Given the description of an element on the screen output the (x, y) to click on. 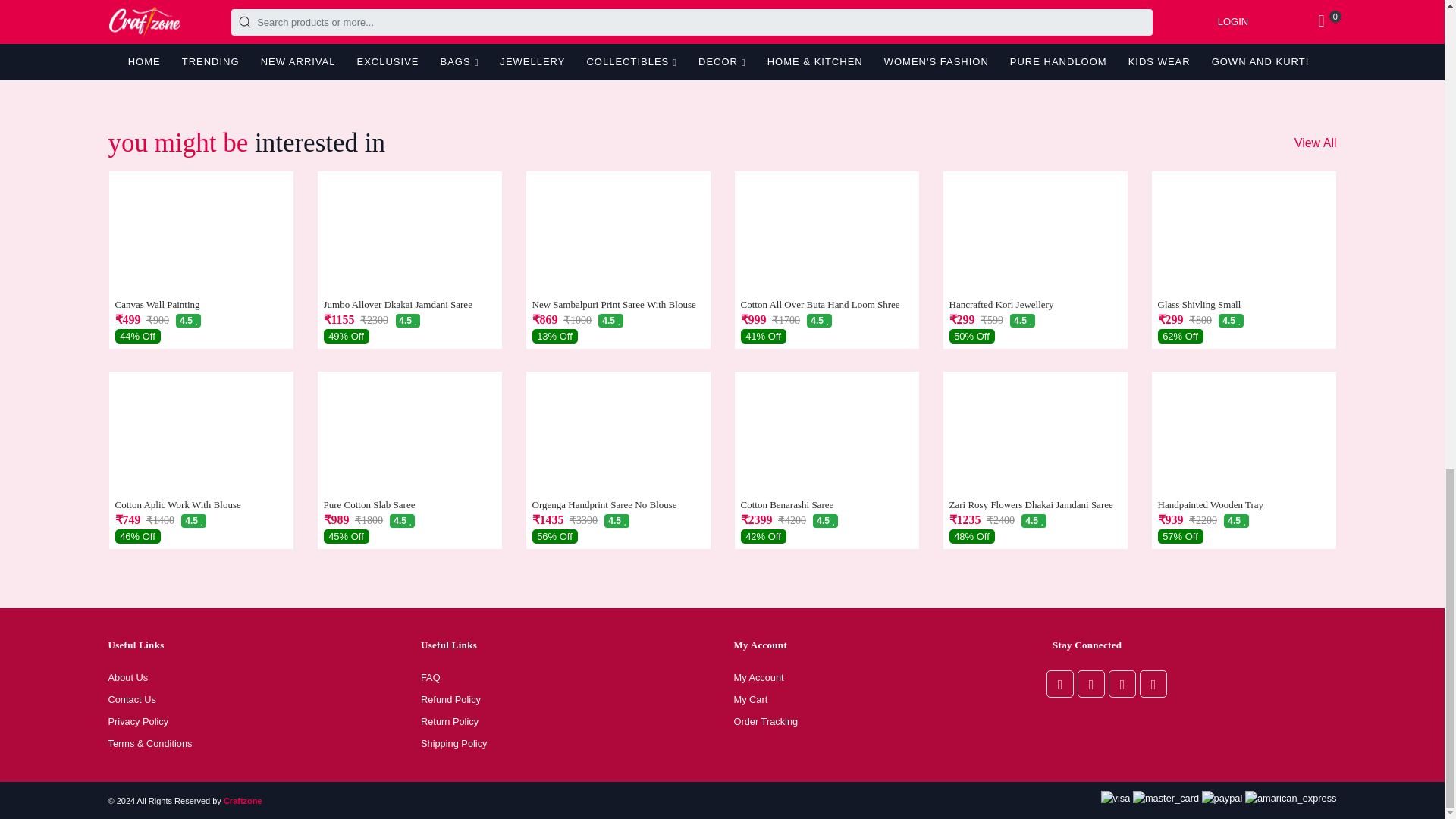
Cotton All Over Buta Hand Loom Shree (825, 304)
cotton aplic work with blouse (200, 504)
 Glass  Shivling small (1243, 304)
 Cotton Benarashi Saree (825, 504)
 Canvas Wall Painting  (200, 304)
 Hancrafted Kori Jewellery  (1035, 304)
Zari Rosy Flowers dhakai jamdani saree (1035, 504)
New Sambalpuri print saree with blouse  (618, 304)
Orgenga handprint saree no blouse (618, 504)
Jumbo allover Dkakai jamdani saree (409, 304)
